Given the description of an element on the screen output the (x, y) to click on. 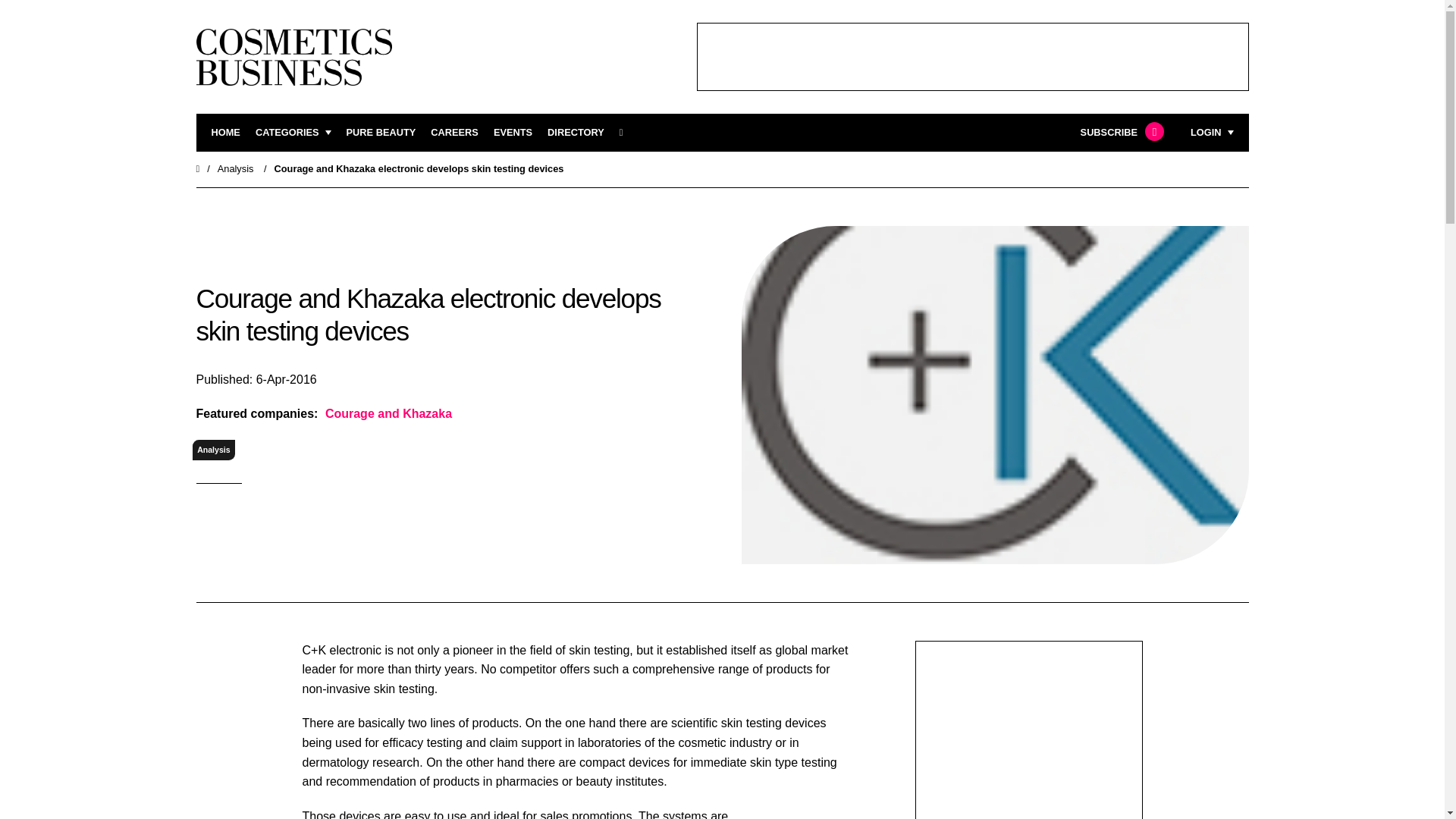
DIRECTORY (575, 133)
CATEGORIES (293, 133)
HOME (225, 133)
CAREERS (454, 133)
SEARCH (626, 133)
Sign In (1134, 321)
Analysis (213, 449)
EVENTS (512, 133)
Directory (575, 133)
Analysis (234, 168)
